Given the description of an element on the screen output the (x, y) to click on. 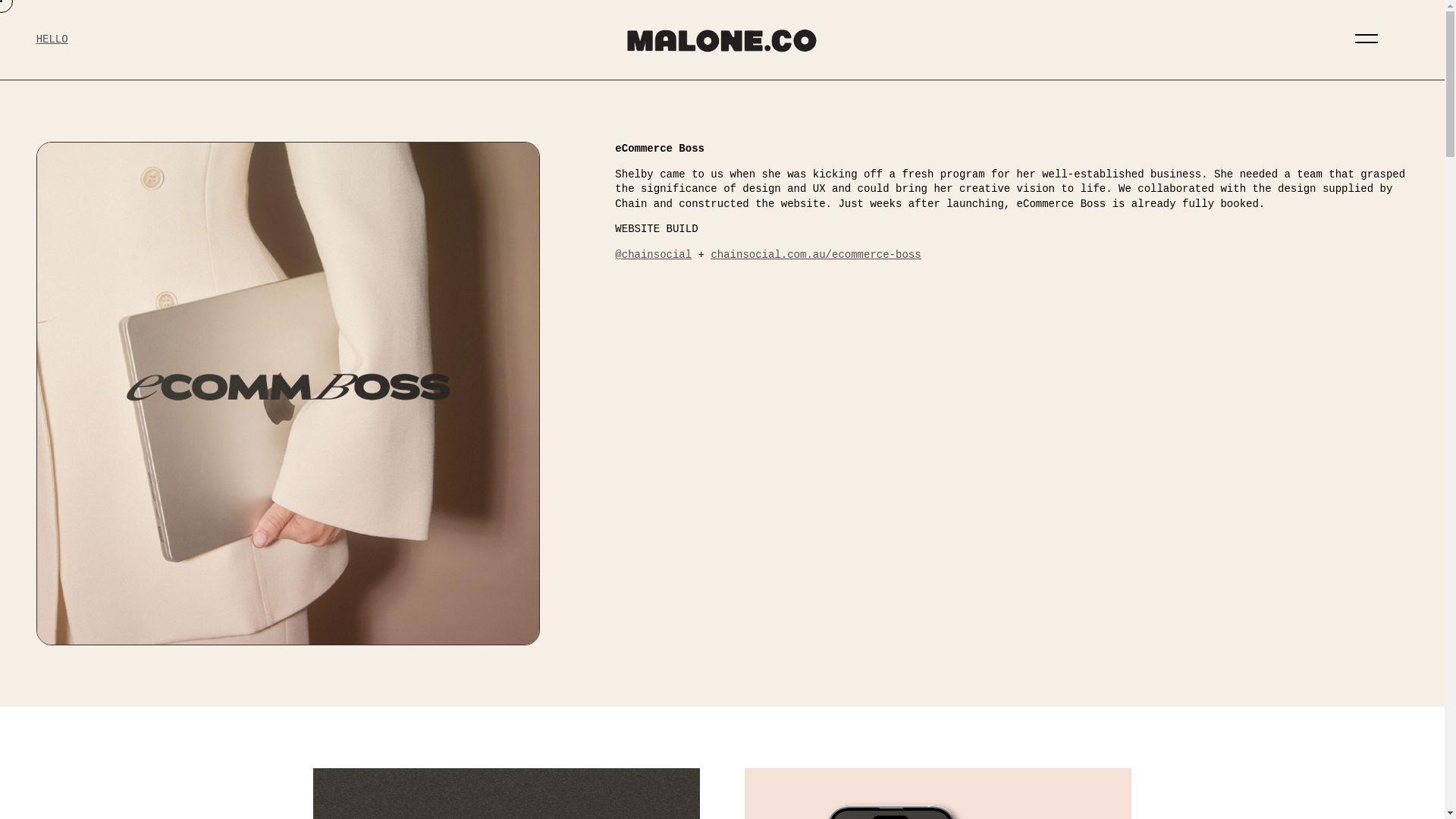
EcommBoss-3 (505, 793)
HELLO (52, 39)
EcommBoss-2 (937, 793)
Hello (52, 39)
MaloneCo (722, 40)
